Given the description of an element on the screen output the (x, y) to click on. 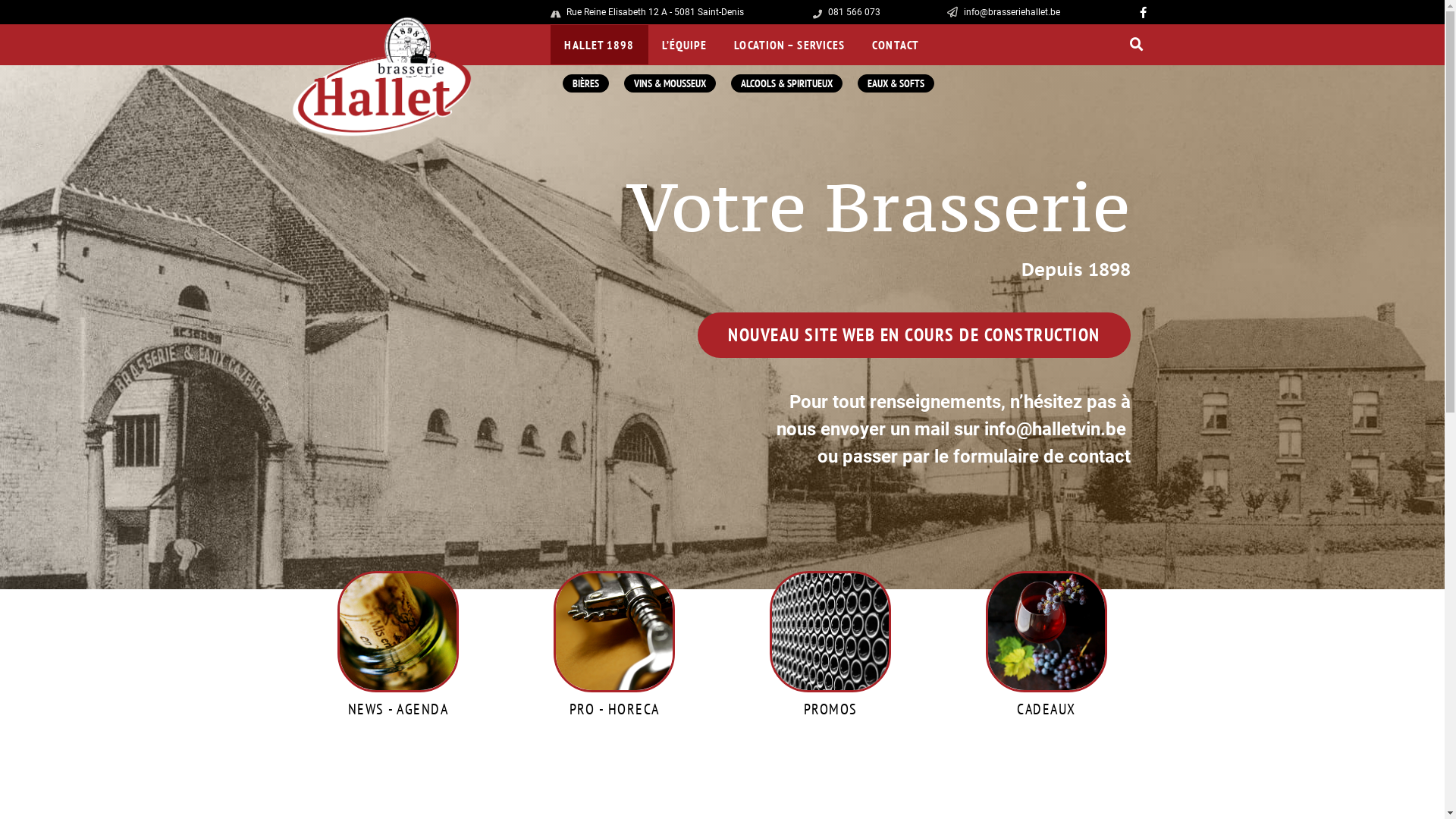
roberta-sorge-IywM7AQTZcM-unsplash Element type: hover (1046, 631)
CONTACT Element type: text (895, 44)
348460_4566 Element type: hover (613, 631)
NOUVEAU SITE WEB EN COURS DE CONSTRUCTION Element type: text (913, 334)
VINS & MOUSSEUX Element type: text (669, 83)
ALCOOLS & SPIRITUEUX Element type: text (786, 83)
571901_55075902 Element type: hover (397, 631)
HALLET 1898 Element type: text (598, 44)
info@halletvin.be Element type: text (1055, 428)
EAUX & SOFTS Element type: text (895, 83)
bottles Element type: hover (830, 631)
formulaire de contact Element type: text (1040, 456)
